Given the description of an element on the screen output the (x, y) to click on. 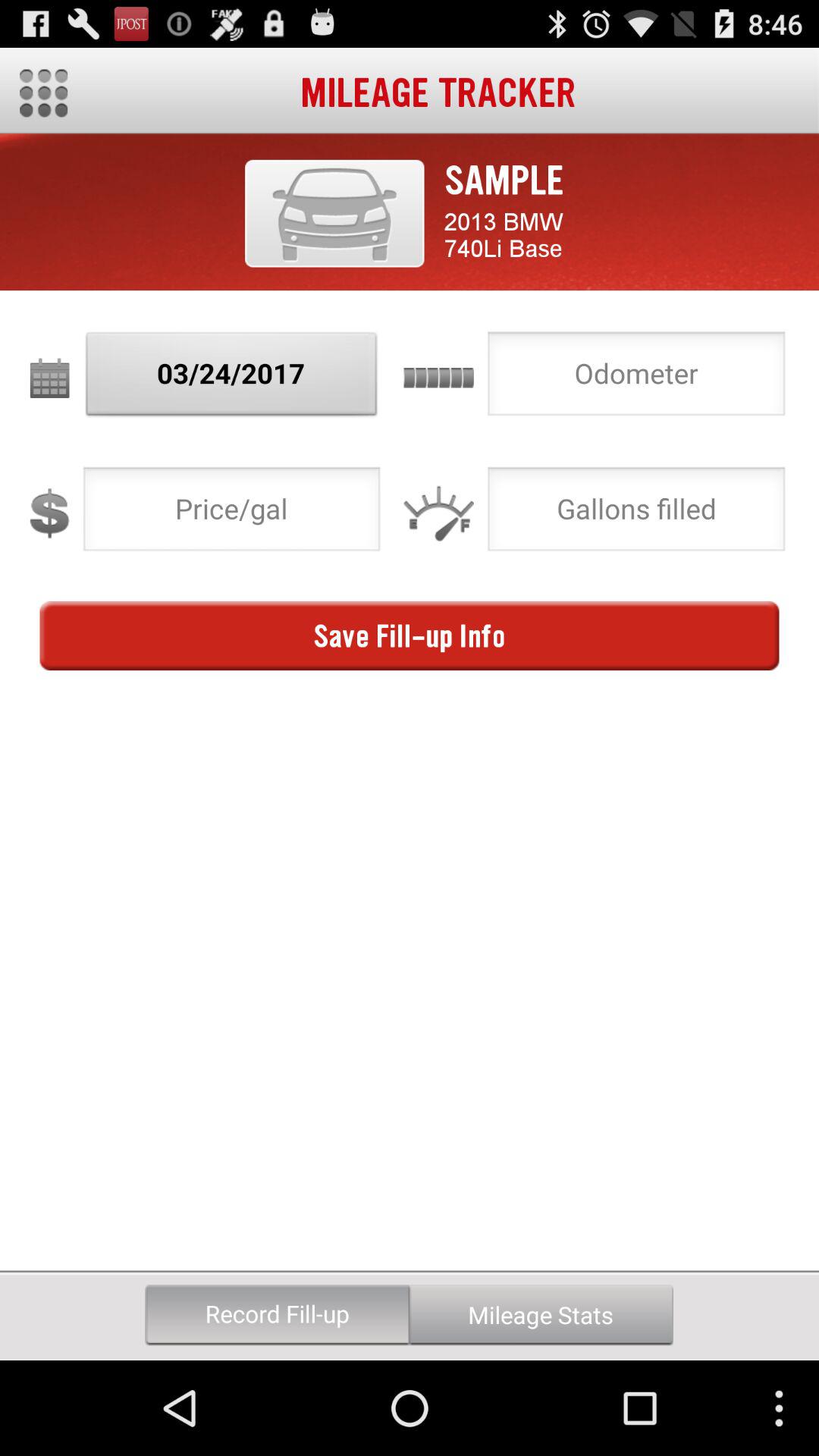
swipe until the mileage stats item (540, 1314)
